Given the description of an element on the screen output the (x, y) to click on. 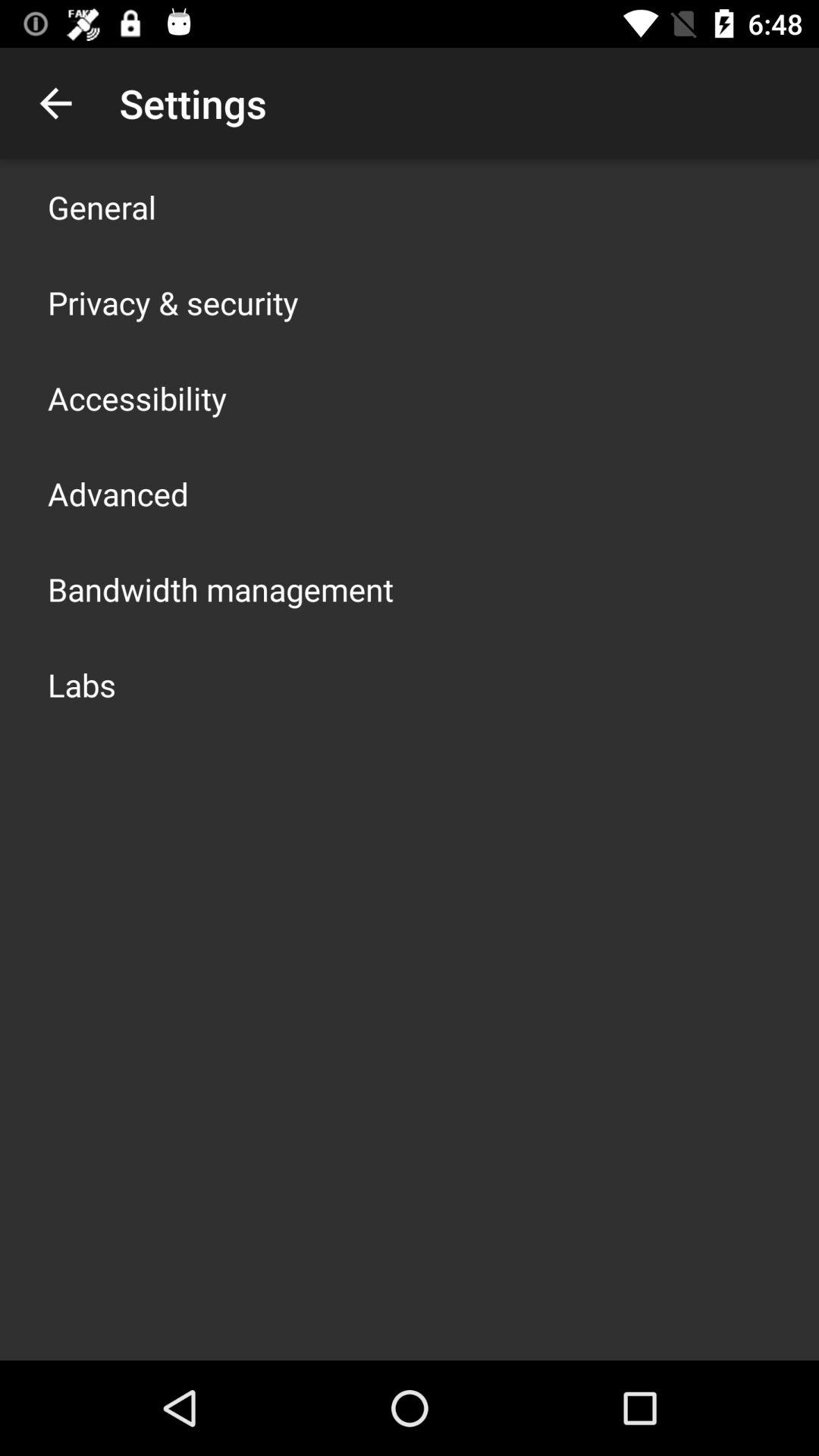
tap the general icon (101, 206)
